Given the description of an element on the screen output the (x, y) to click on. 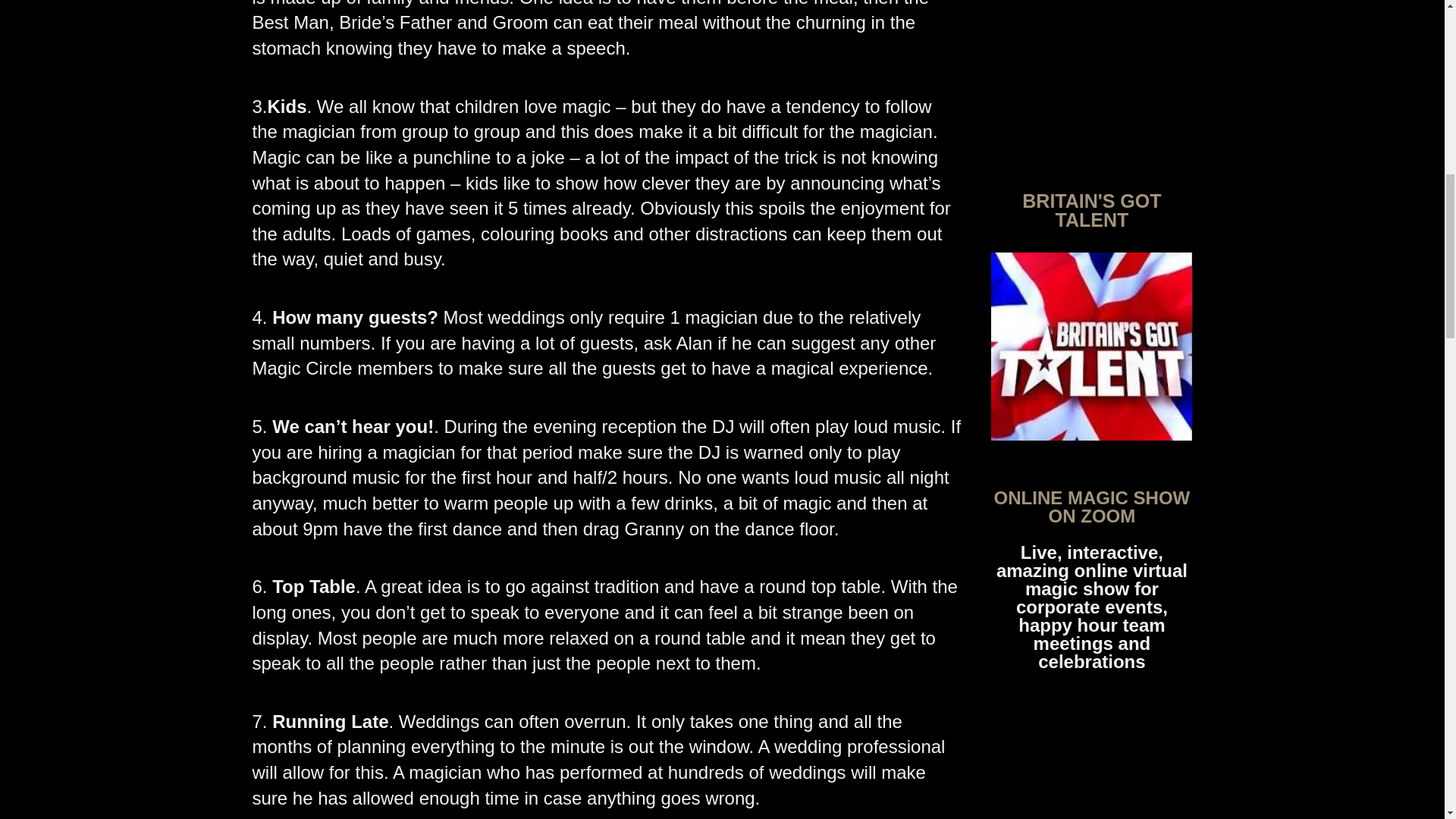
BRITAIN'S GOT TALENT (1091, 210)
ONLINE MAGIC SHOW ON ZOOM (1092, 506)
